Given the description of an element on the screen output the (x, y) to click on. 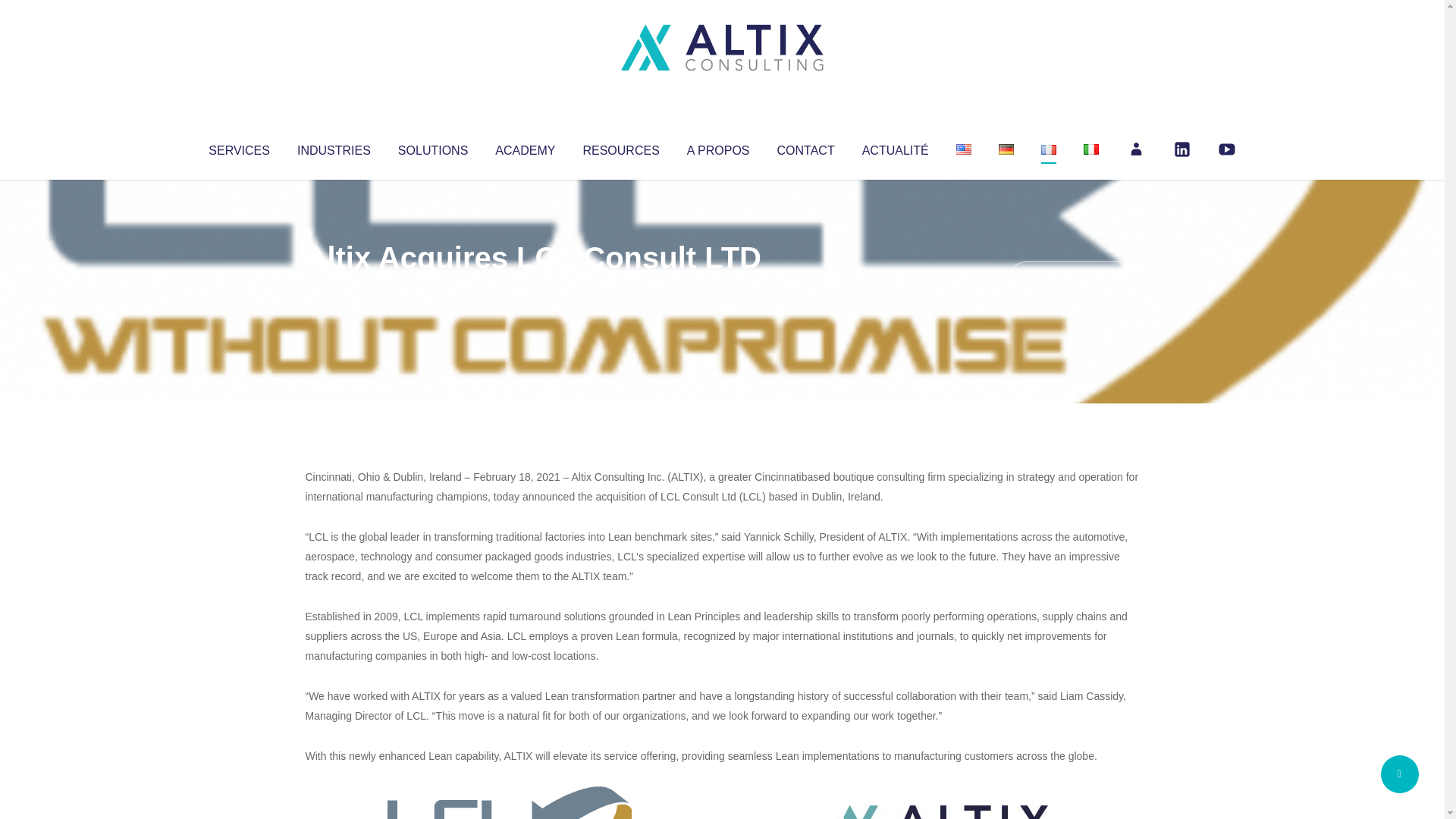
SERVICES (238, 146)
No Comments (1073, 278)
Uncategorized (530, 287)
A PROPOS (718, 146)
INDUSTRIES (334, 146)
RESOURCES (620, 146)
Articles par Altix (333, 287)
Altix (333, 287)
ACADEMY (524, 146)
SOLUTIONS (432, 146)
